Given the description of an element on the screen output the (x, y) to click on. 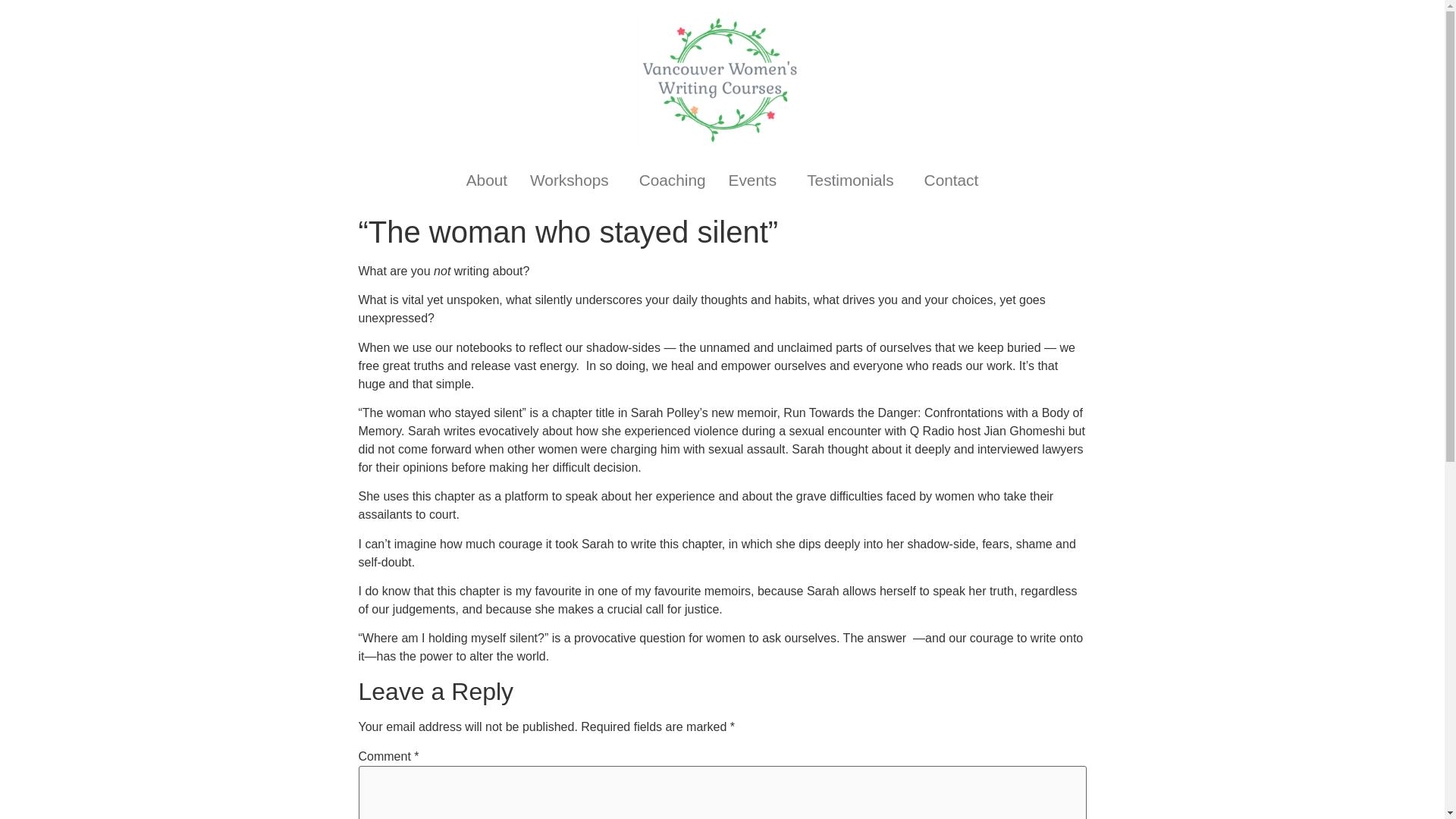
About (486, 180)
Workshops (572, 180)
Contact (951, 180)
Testimonials (853, 180)
Events (756, 180)
Coaching (672, 180)
